Given the description of an element on the screen output the (x, y) to click on. 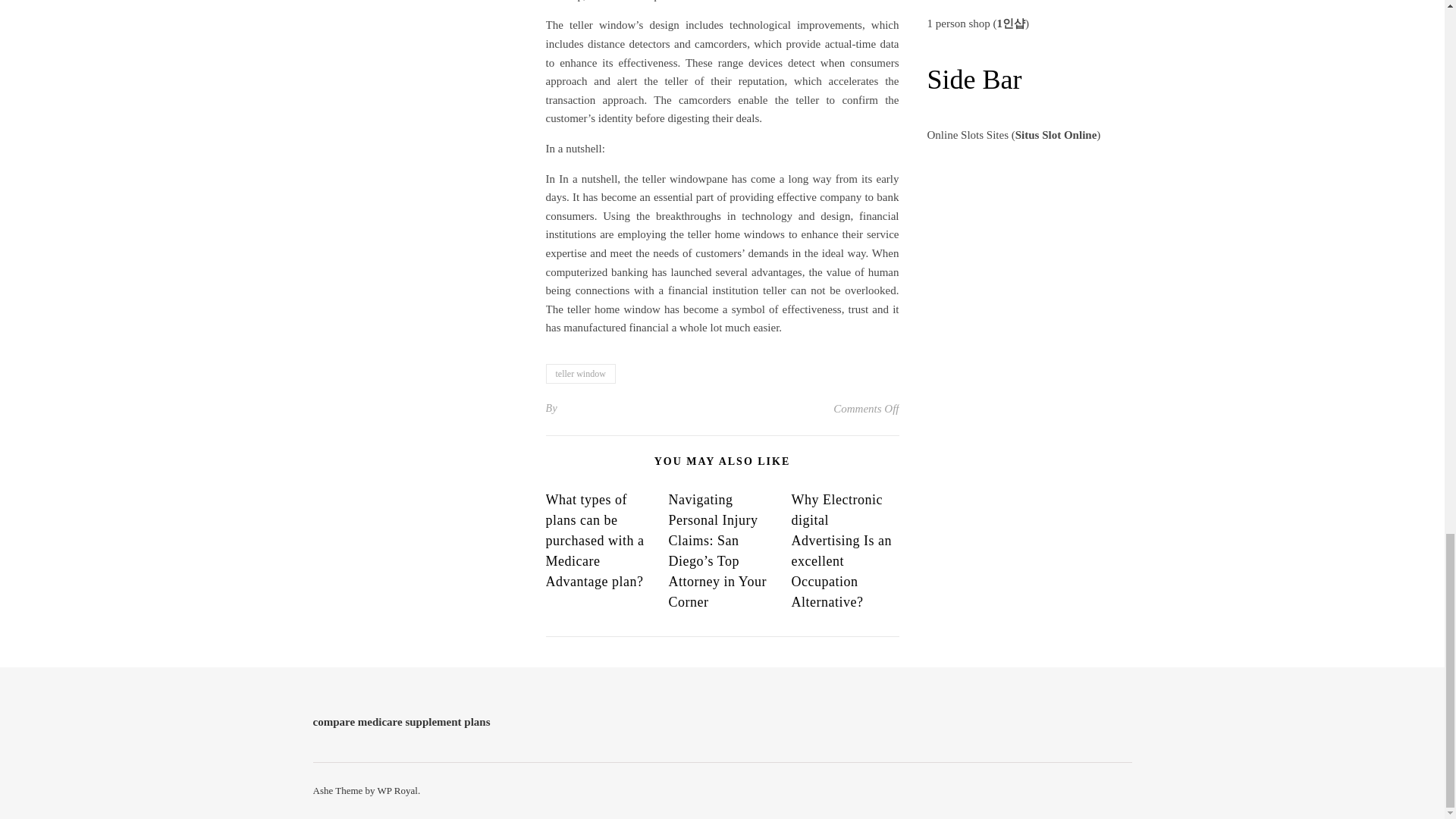
teller window (580, 373)
